Given the description of an element on the screen output the (x, y) to click on. 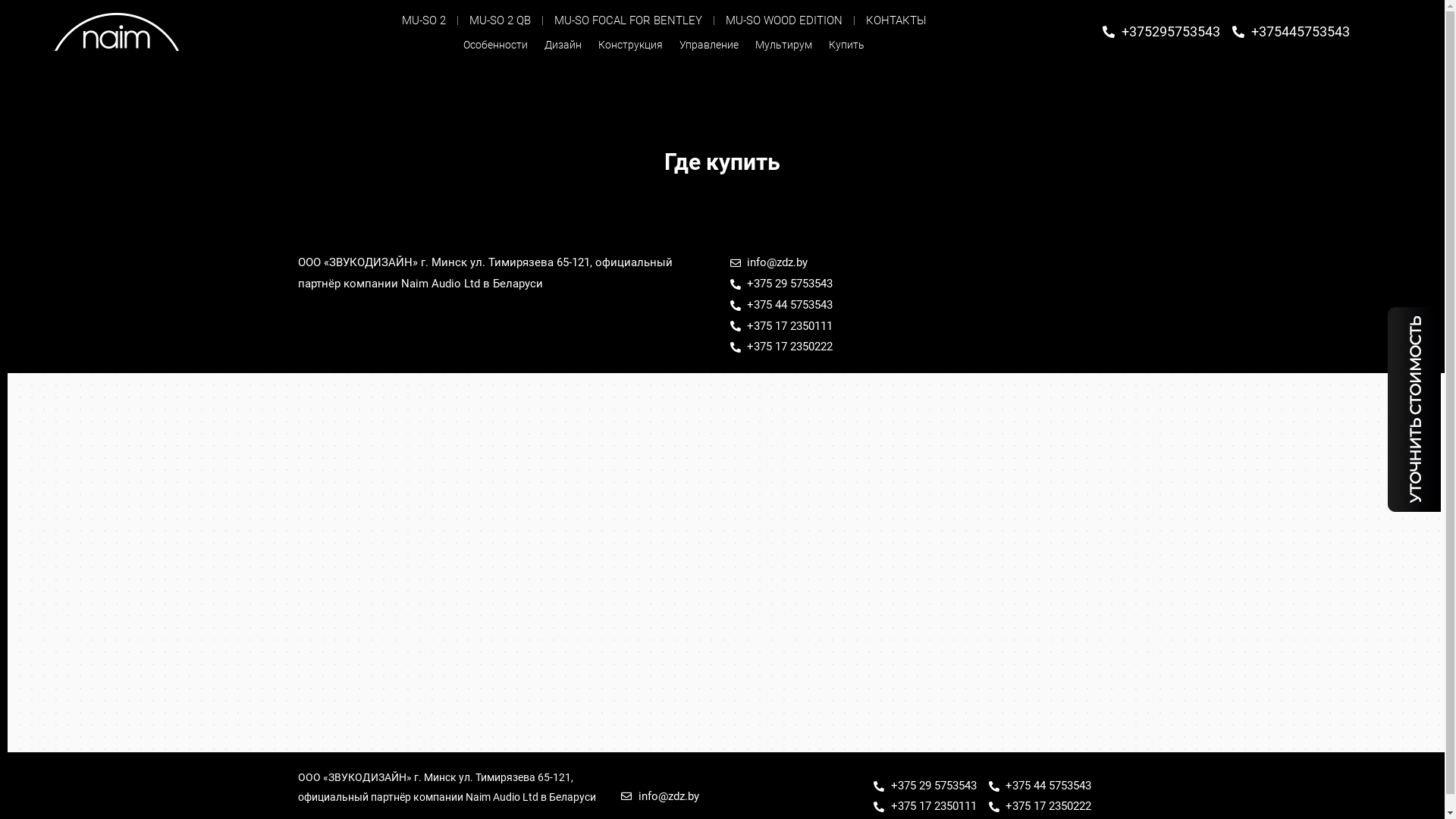
MU-SO WOOD EDITION Element type: text (783, 20)
MU-SO 2 QB Element type: text (500, 20)
+375445753543 Element type: text (1290, 30)
MU-SO 2 Element type: text (423, 20)
+375295753543 Element type: text (1161, 30)
MU-SO FOCAL FOR BENTLEY Element type: text (627, 20)
